Given the description of an element on the screen output the (x, y) to click on. 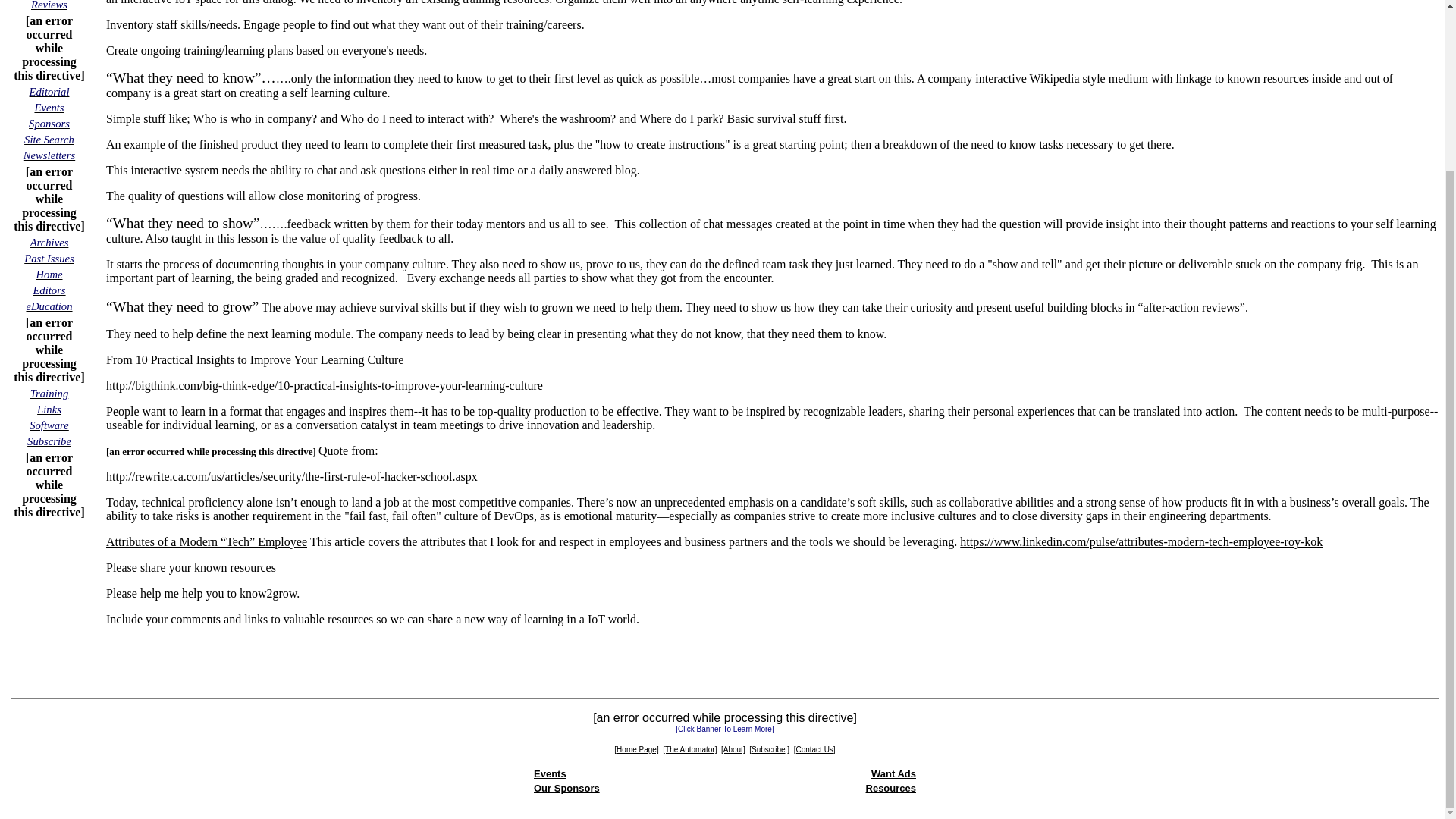
eDucation (48, 305)
Newsletters (49, 154)
Archives (49, 241)
Subscribe (49, 440)
Events (48, 106)
Subscribe (767, 748)
Our Sponsors (566, 787)
Training (49, 392)
Software (48, 424)
Past Issues (49, 257)
Want Ads (892, 773)
Resources (890, 787)
Site Search (49, 138)
Reviews (48, 5)
Home (48, 273)
